Given the description of an element on the screen output the (x, y) to click on. 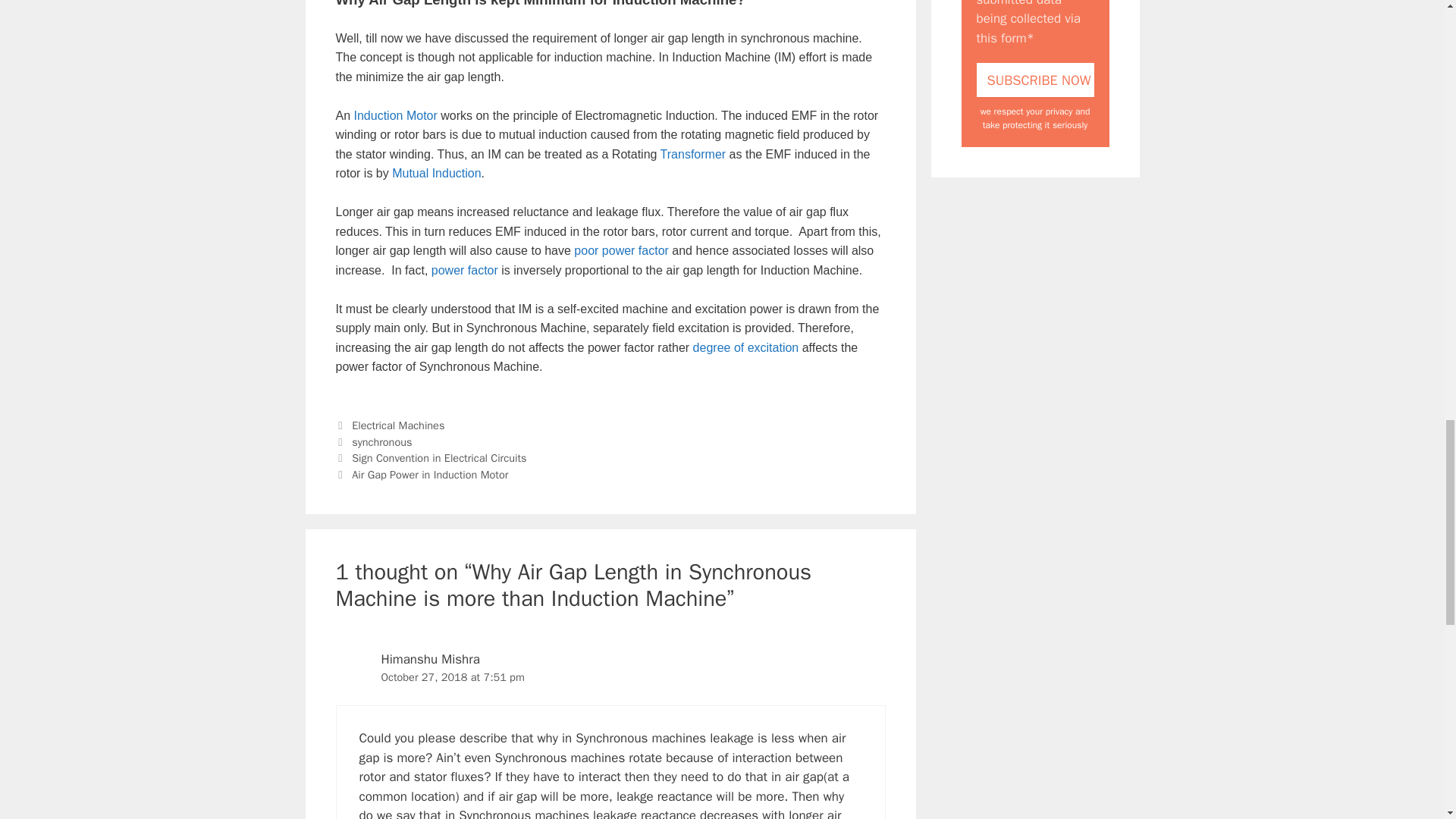
degree of excitation (746, 347)
Previous (429, 458)
Electrical Machines (398, 425)
Next (421, 474)
Induction Motor (395, 115)
October 27, 2018 at 7:51 pm (452, 676)
Mutual Induction (435, 173)
synchronous (382, 441)
power factor (463, 269)
poor power factor (620, 250)
Air Gap Power in Induction Motor (430, 474)
Transformer (693, 154)
Subscribe Now (1035, 80)
Sign Convention in Electrical Circuits (438, 458)
